Given the description of an element on the screen output the (x, y) to click on. 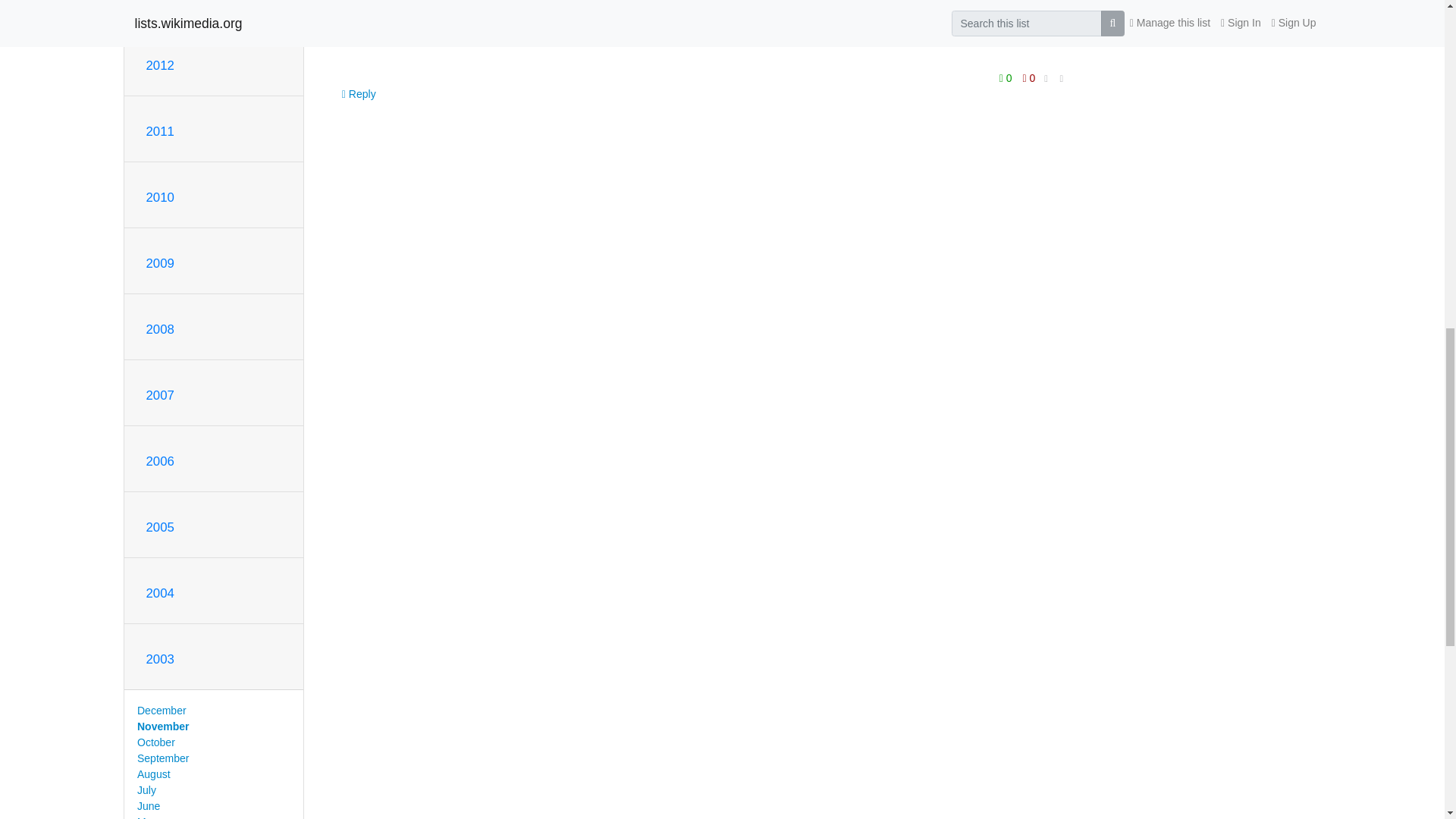
Sign in to reply online (359, 93)
You must be logged-in to vote. (1007, 77)
You must be logged-in to vote. (1029, 77)
